Given the description of an element on the screen output the (x, y) to click on. 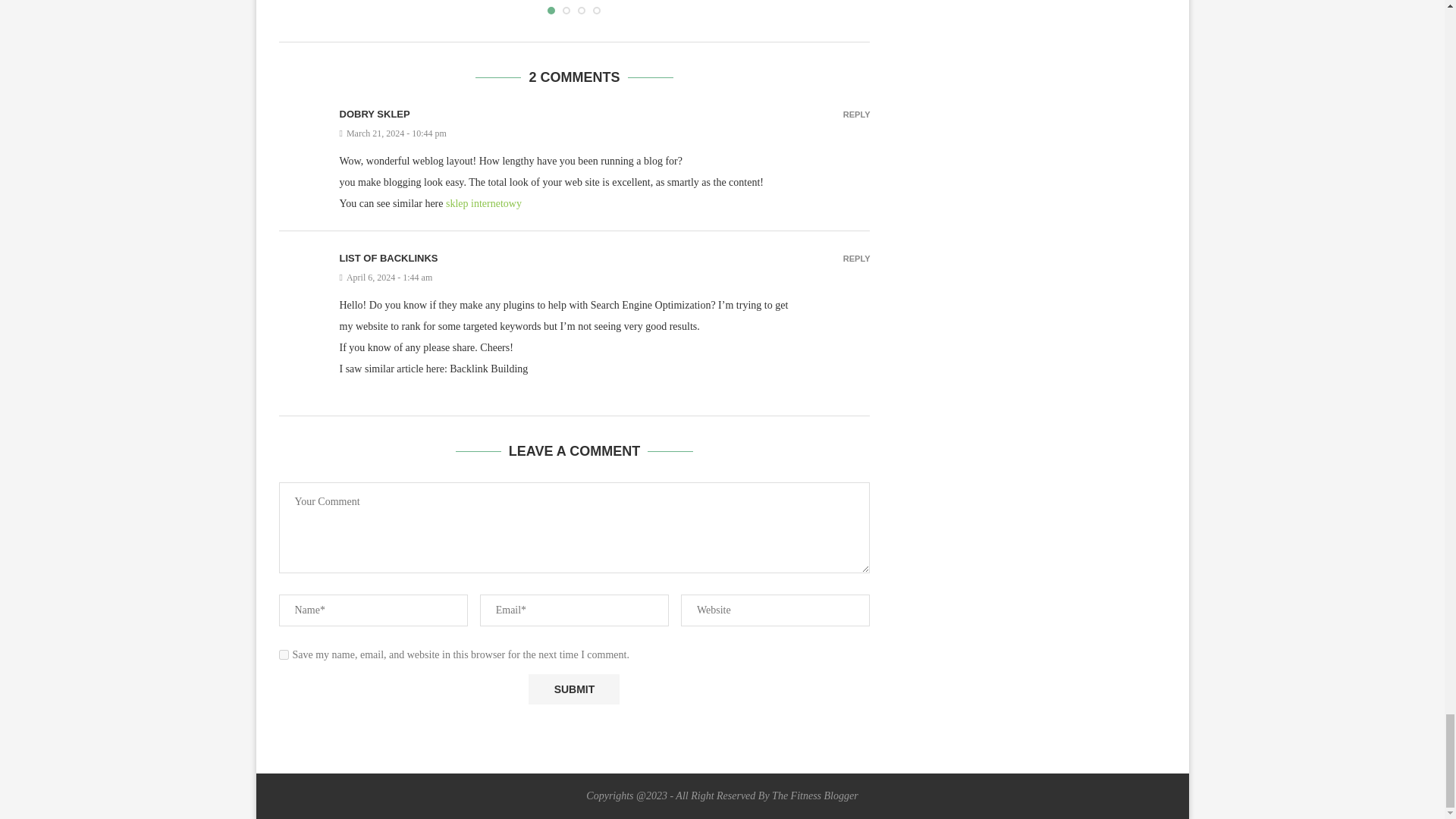
yes (283, 655)
Submit (574, 689)
